Given the description of an element on the screen output the (x, y) to click on. 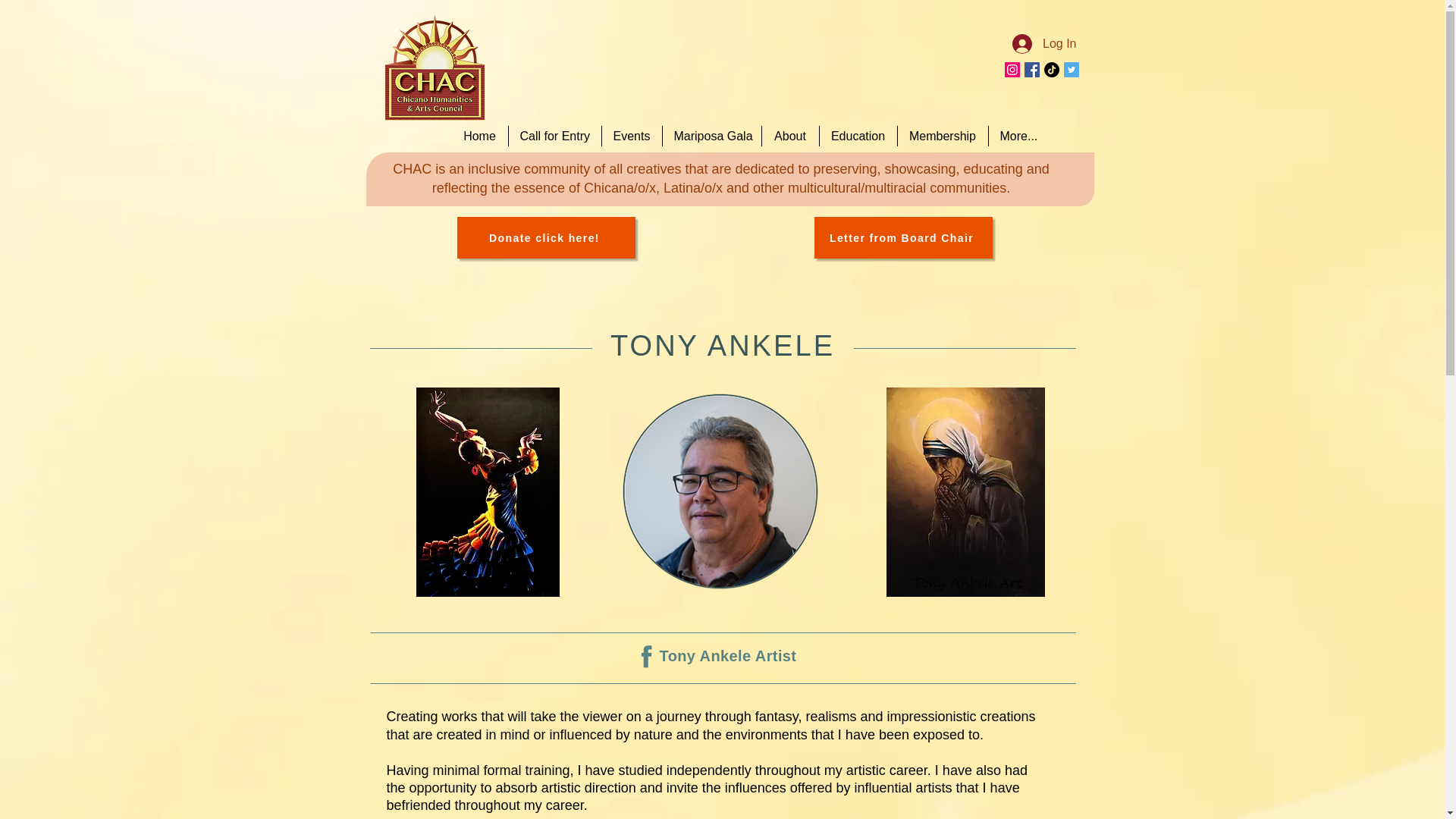
Events (630, 136)
Membership (941, 136)
Tony Ankele Artist (727, 655)
Donate click here! (545, 237)
Education (857, 136)
Mariposa Gala (710, 136)
Log In (1043, 43)
Letter from Board Chair (902, 237)
About (789, 136)
Home (479, 136)
